Given the description of an element on the screen output the (x, y) to click on. 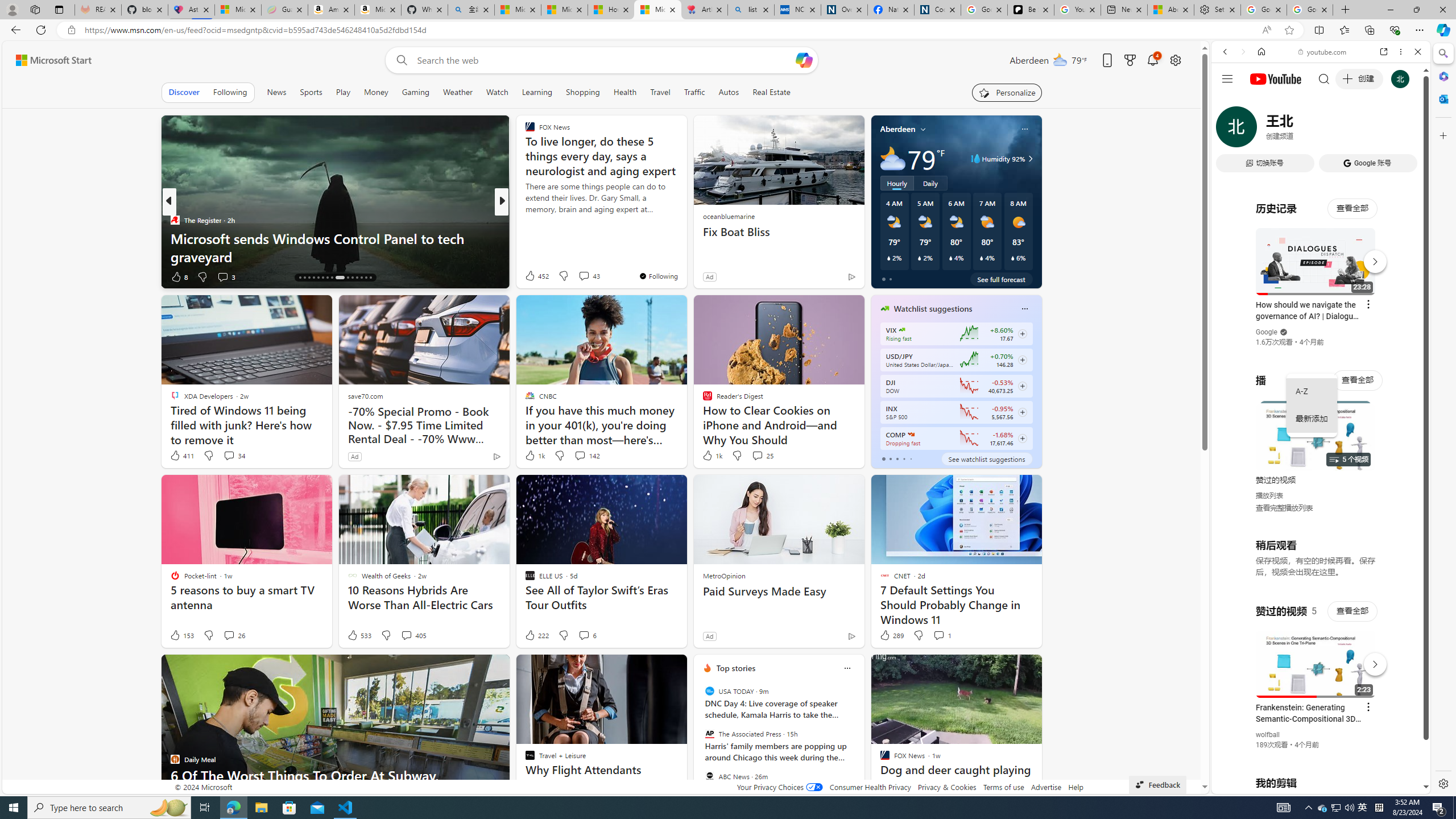
6 Like (529, 276)
533 Like (358, 634)
Be Smart | creating Science videos | Patreon (1030, 9)
tab-0 (882, 458)
1k Like (711, 455)
The Associated Press (709, 733)
